Given the description of an element on the screen output the (x, y) to click on. 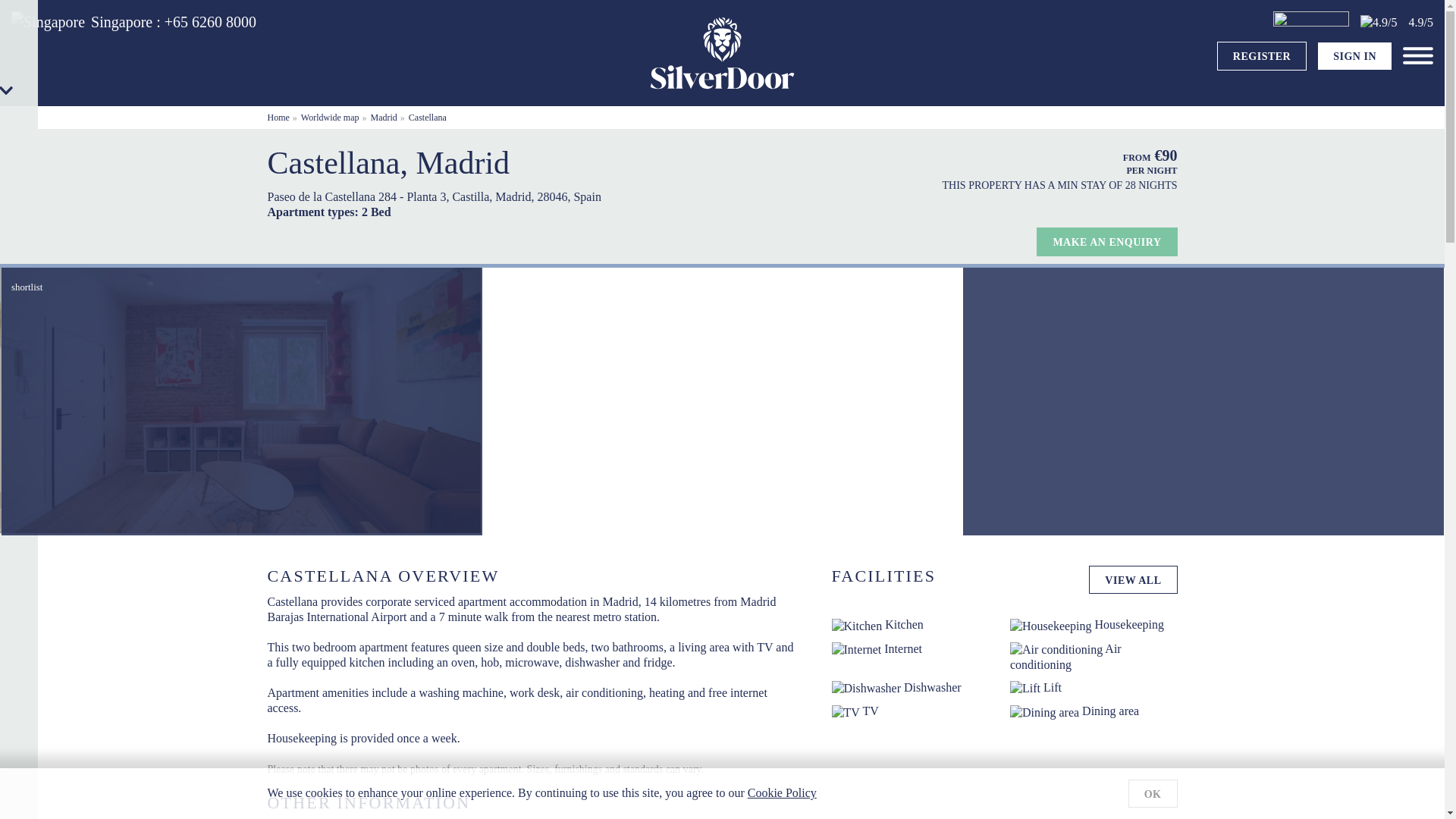
Castellana (427, 117)
Worldwide map (330, 117)
MAKE AN ENQUIRY (1106, 241)
REGISTER (1261, 55)
Home (277, 117)
VIEW ALL (1132, 579)
Madrid (384, 117)
SIGN IN (1354, 55)
